Given the description of an element on the screen output the (x, y) to click on. 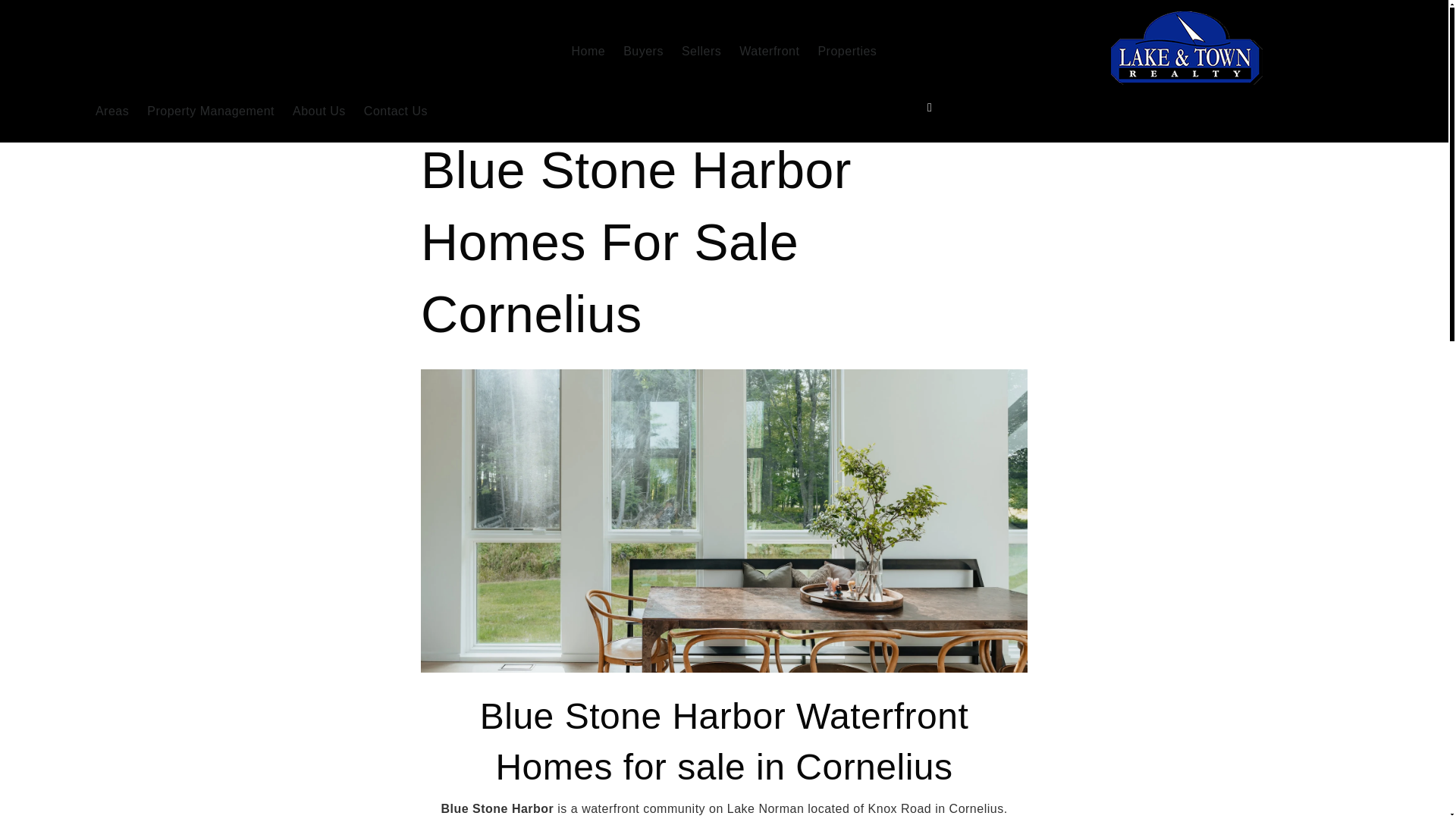
Areas (111, 111)
About Us (319, 111)
Properties (846, 51)
Home (588, 51)
Property Management (210, 111)
Buyers (643, 51)
Sellers (701, 51)
Waterfront (769, 51)
Contact Us (395, 111)
